Given the description of an element on the screen output the (x, y) to click on. 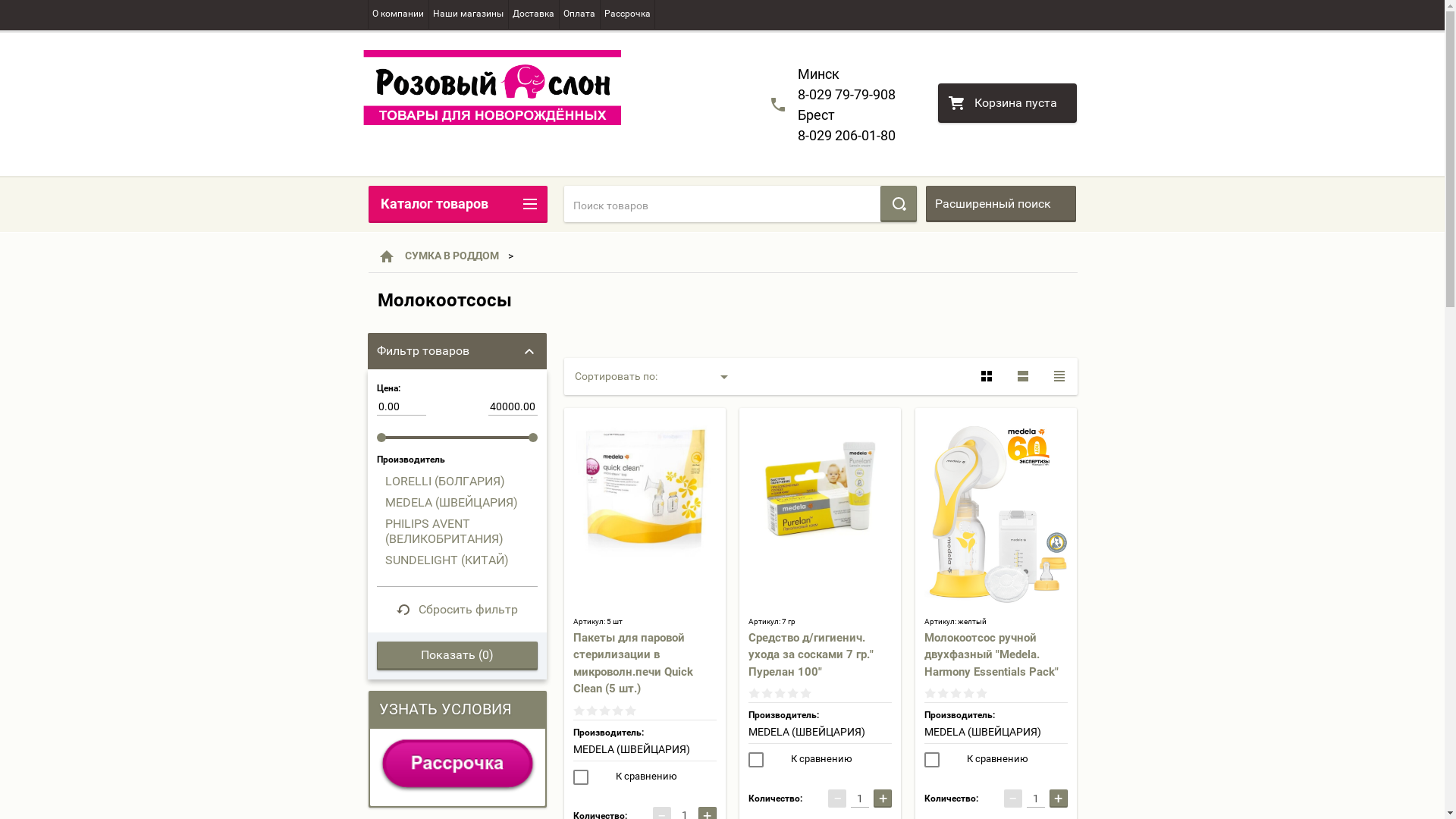
+ Element type: text (1058, 798)
+ Element type: text (882, 798)
8-029 206-01-80 Element type: text (846, 135)
8-029 79-79-908 Element type: text (846, 94)
